Given the description of an element on the screen output the (x, y) to click on. 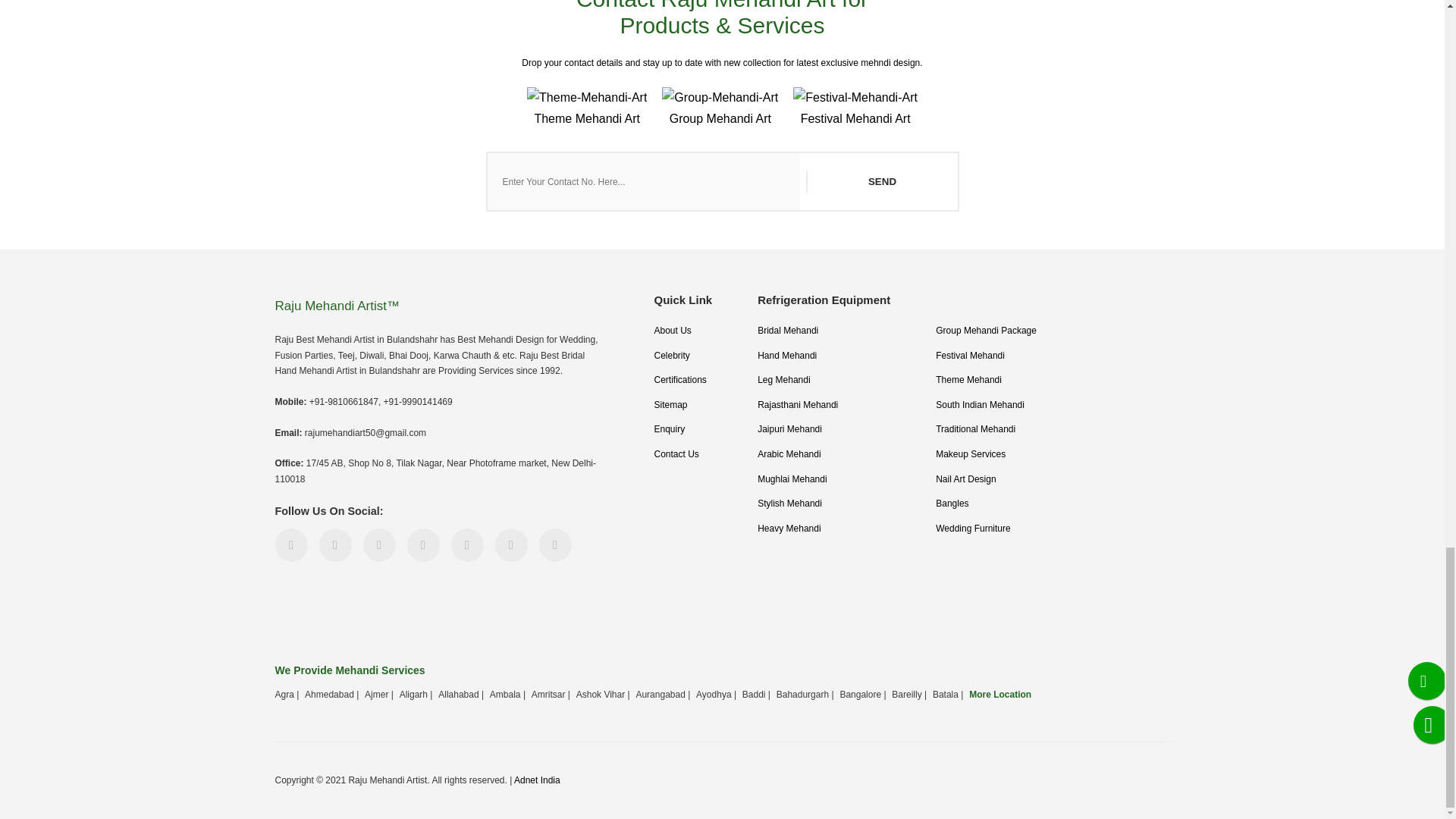
Theme Mehandi Art (586, 109)
SEND (880, 181)
Group Mehandi Art (719, 109)
Festival Mehandi Art (855, 109)
